Given the description of an element on the screen output the (x, y) to click on. 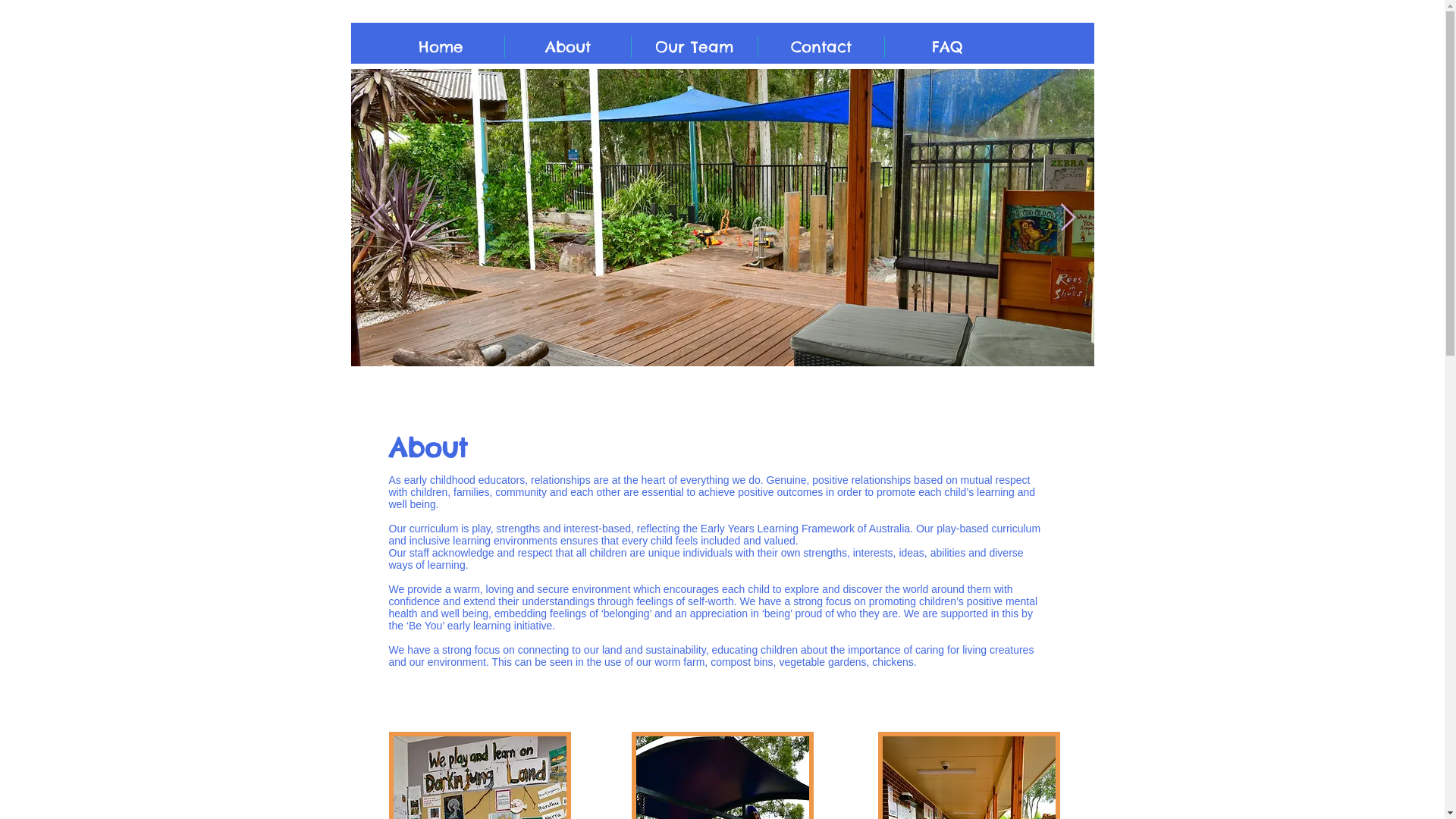
About Element type: text (567, 46)
FAQ Element type: text (946, 46)
Contact Element type: text (821, 46)
Our Team Element type: text (693, 46)
Home Element type: text (440, 46)
